Given the description of an element on the screen output the (x, y) to click on. 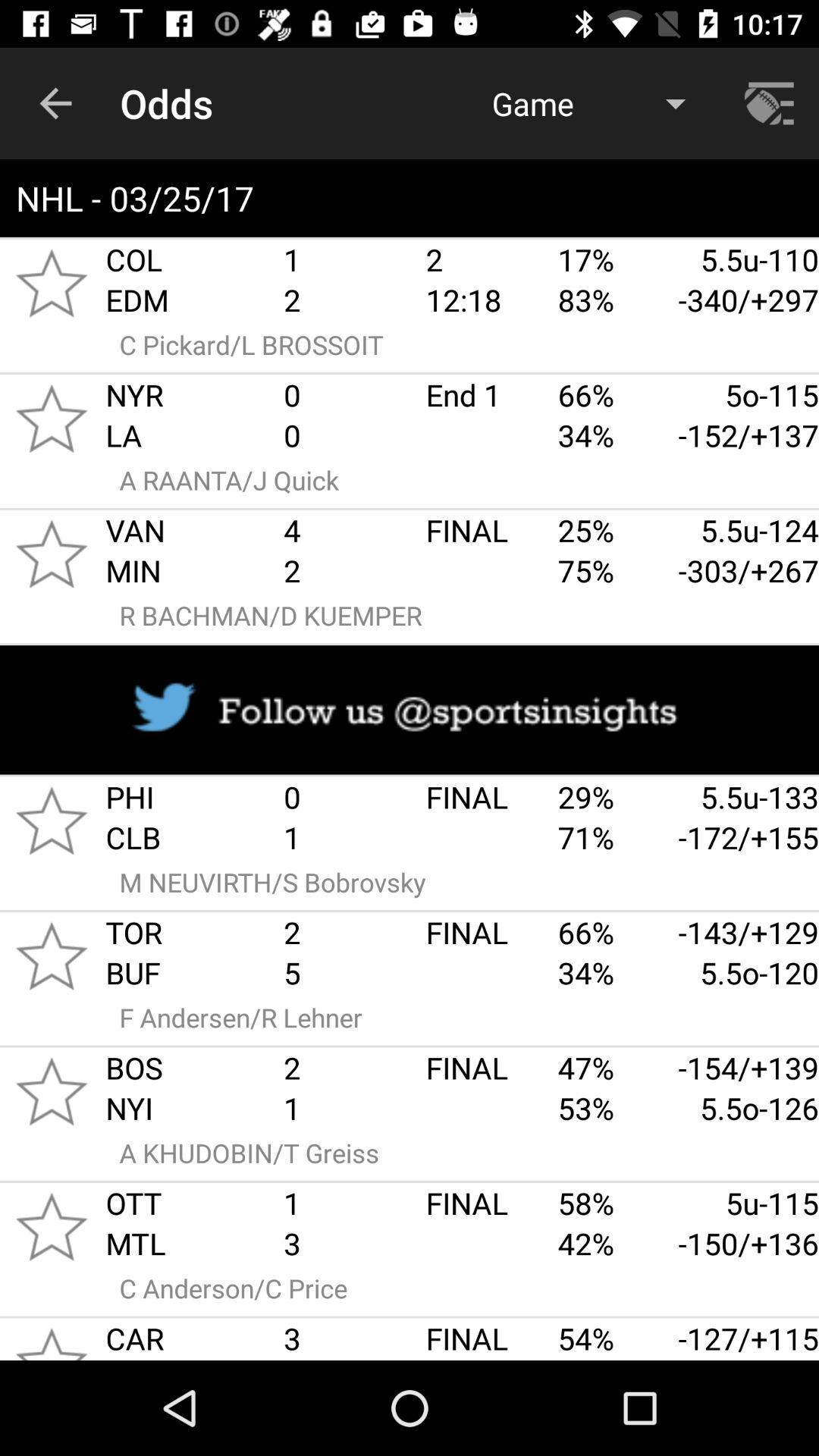
favourite button (51, 1091)
